Given the description of an element on the screen output the (x, y) to click on. 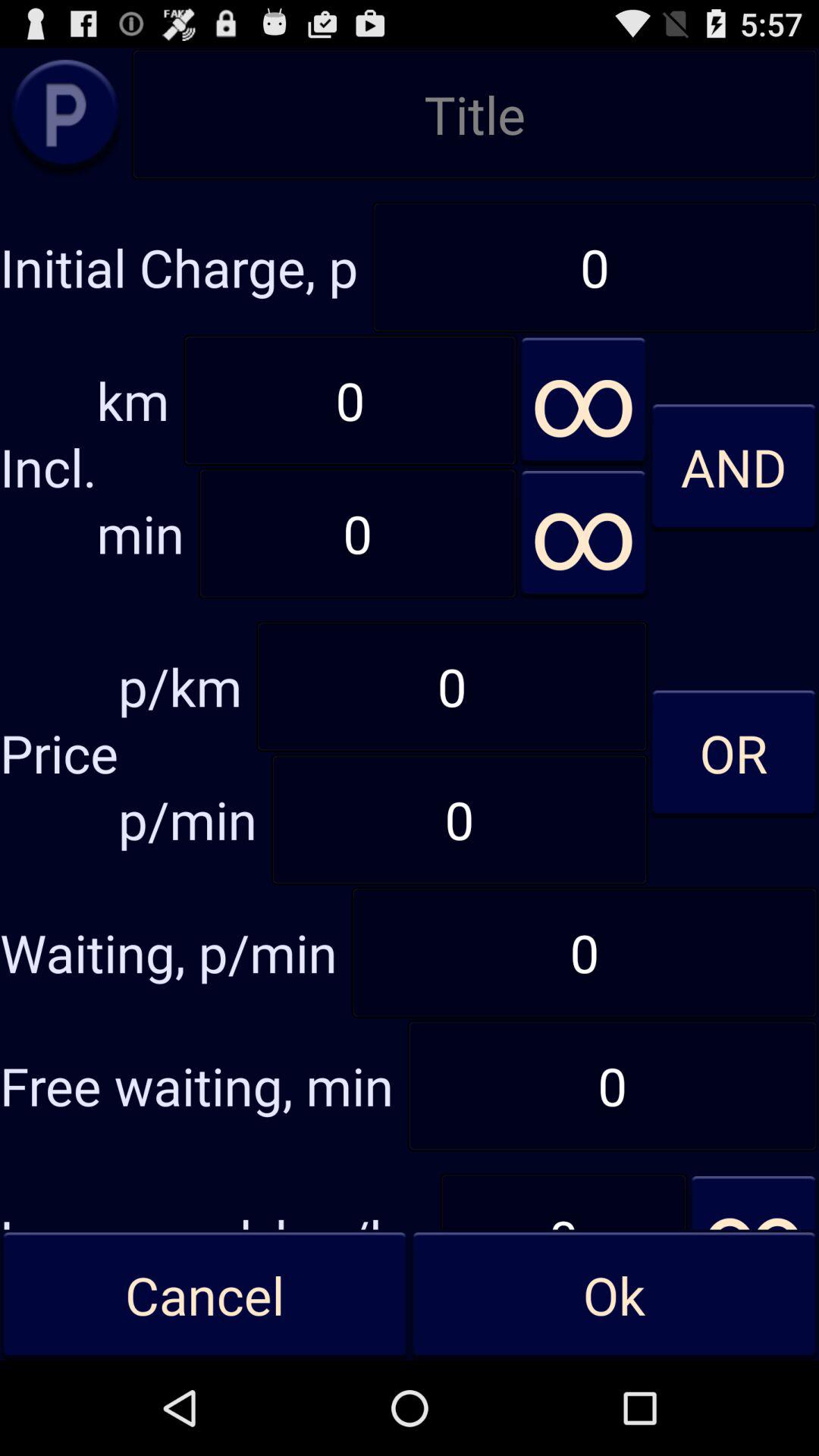
type title (474, 113)
